Given the description of an element on the screen output the (x, y) to click on. 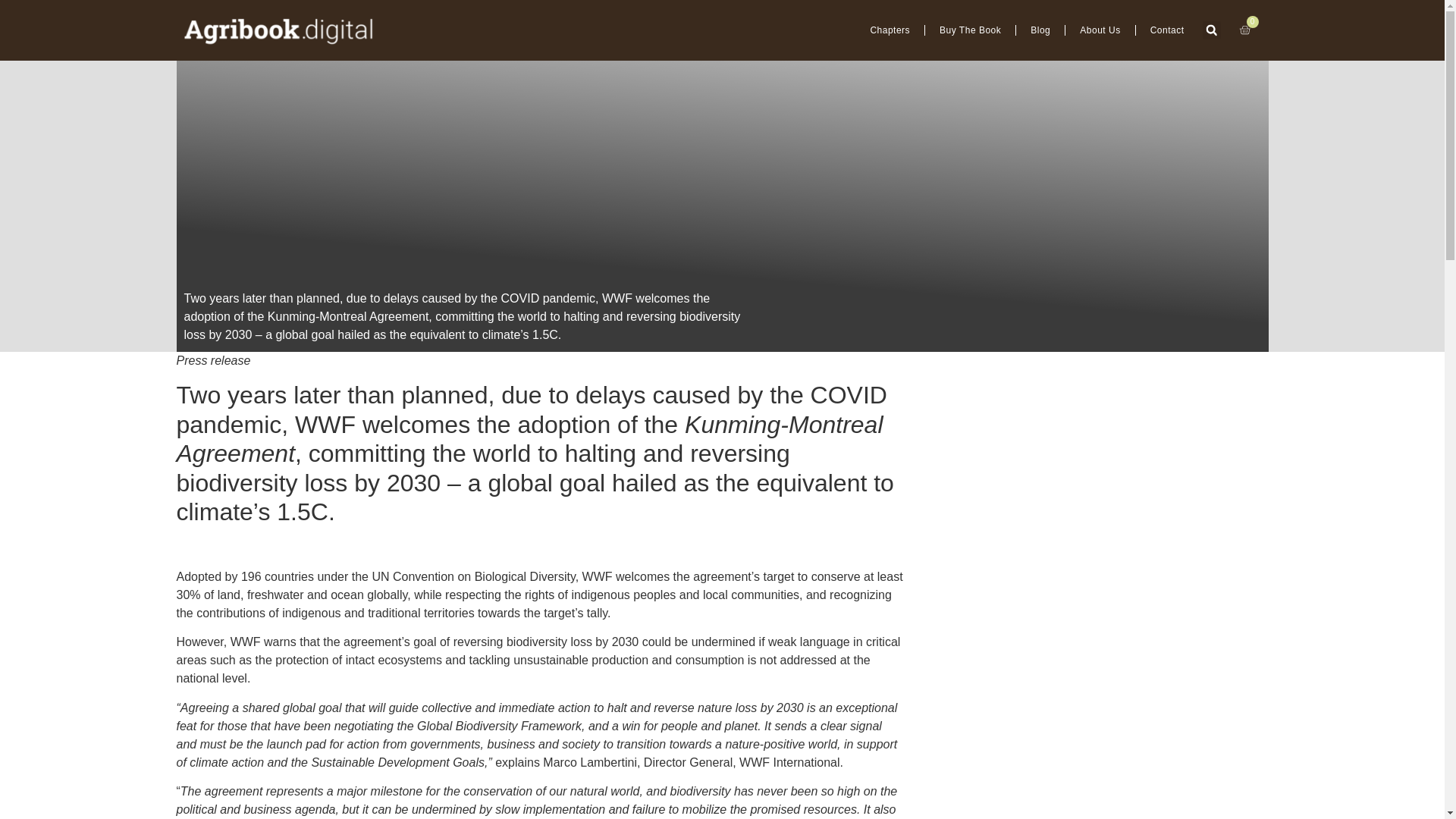
Chapters (889, 30)
